Given the description of an element on the screen output the (x, y) to click on. 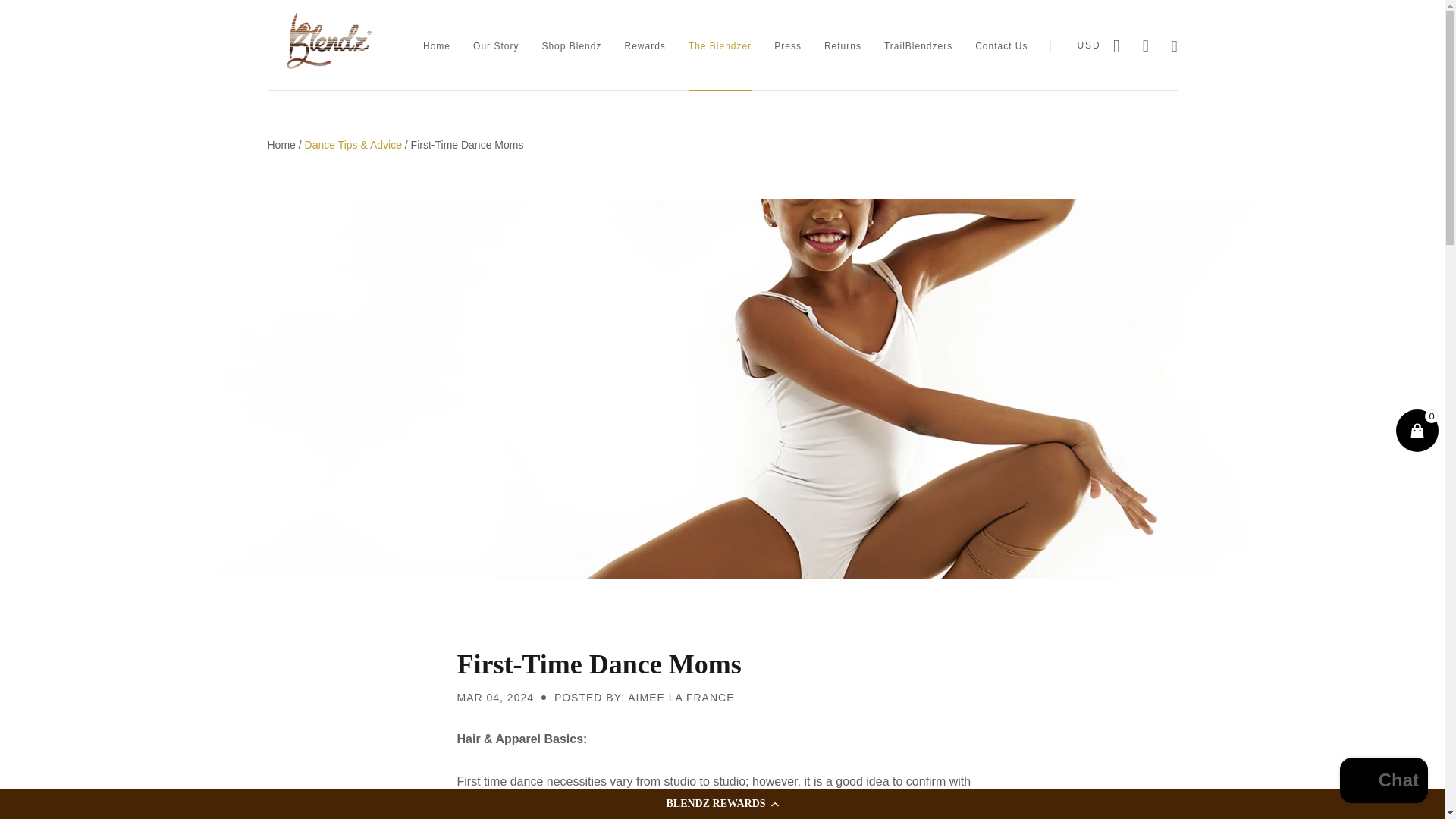
Contact Us (1001, 46)
The Blendzer (719, 46)
Shopify online store chat (1383, 781)
Our Story (495, 46)
Press (788, 46)
TrailBlendzers (917, 46)
Rewards (644, 46)
Home (436, 46)
Shop Blendz (571, 46)
Returns (842, 46)
